Given the description of an element on the screen output the (x, y) to click on. 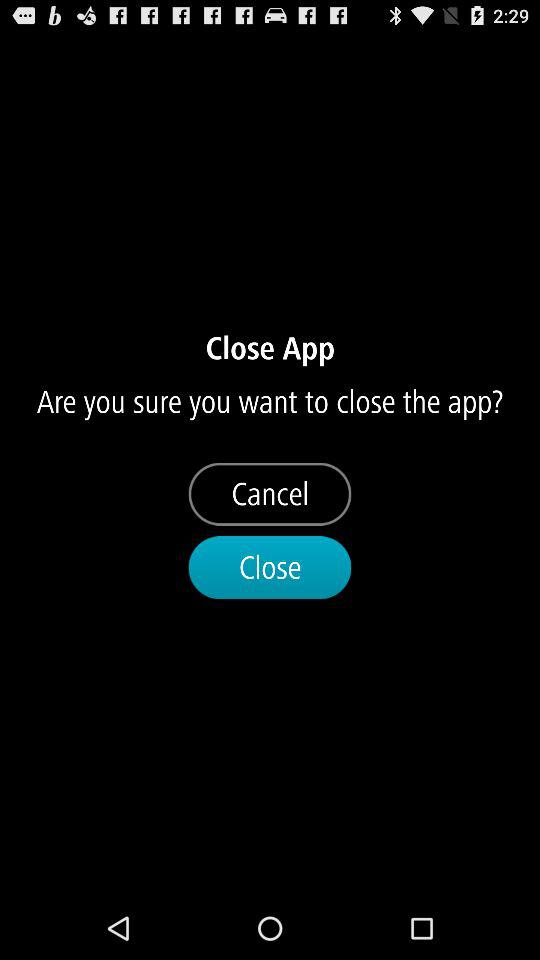
launch icon above close (269, 493)
